Given the description of an element on the screen output the (x, y) to click on. 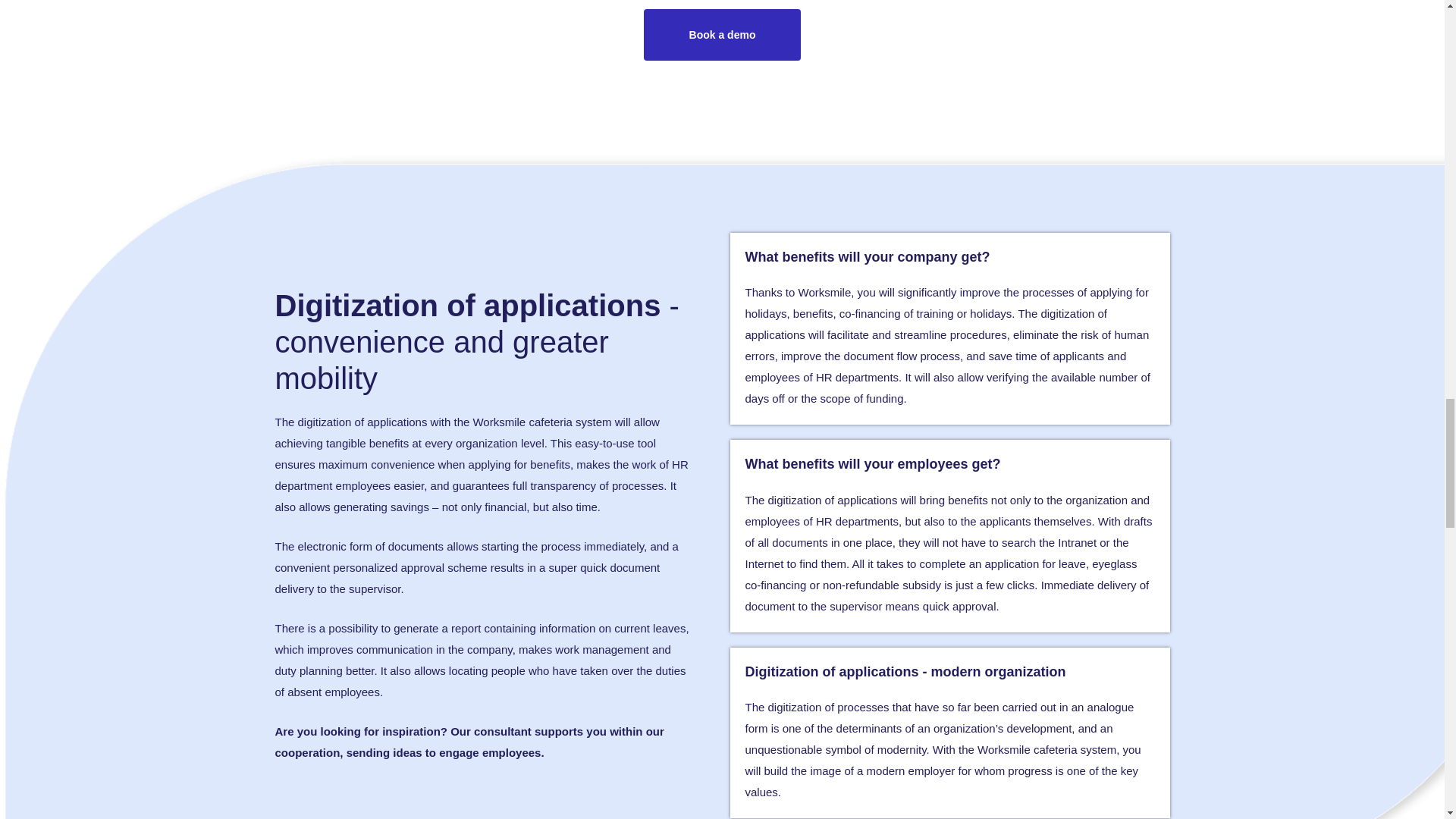
Book a demo (722, 34)
